Given the description of an element on the screen output the (x, y) to click on. 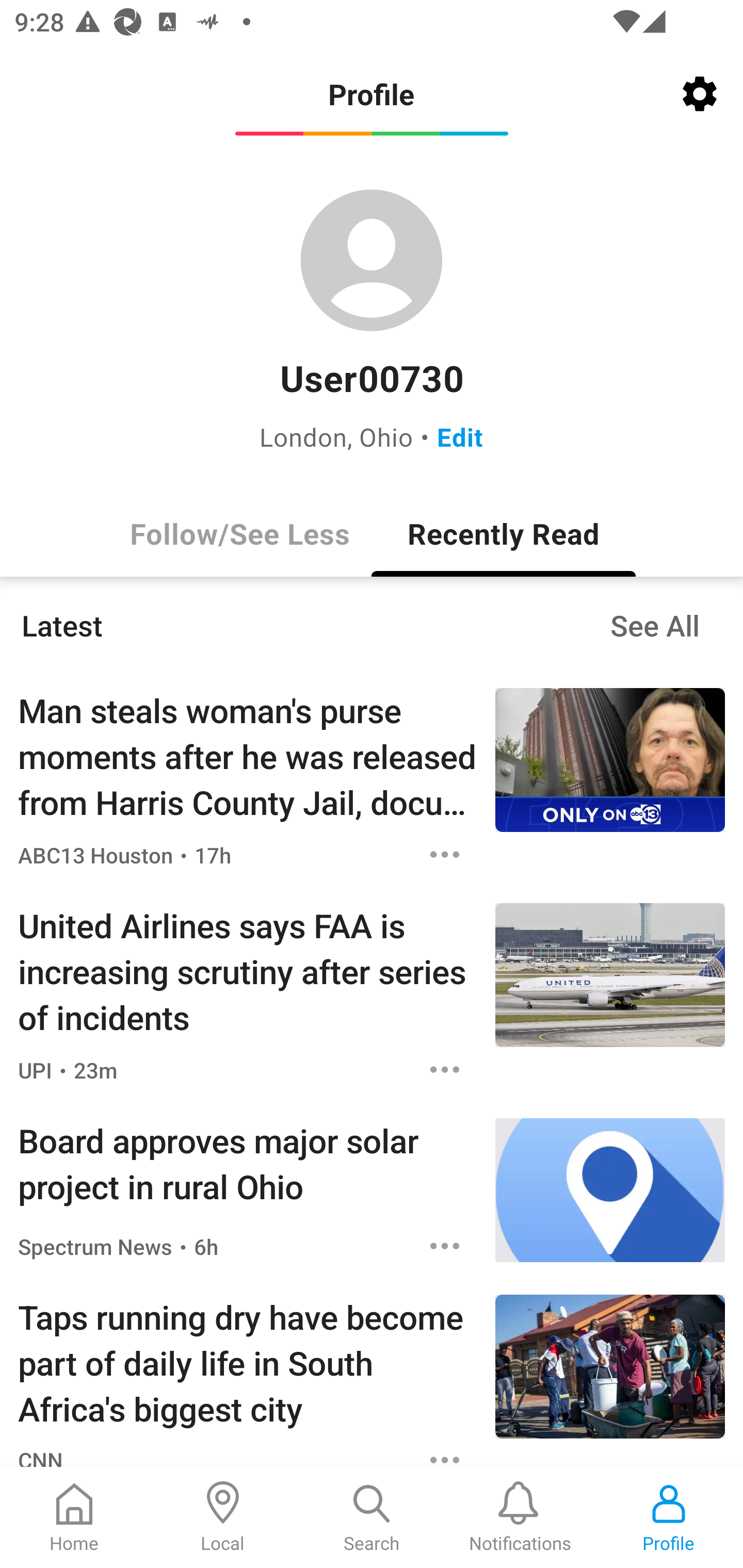
Settings (699, 93)
Edit (459, 436)
Follow/See Less (238, 533)
See All (654, 624)
Options (444, 854)
Options (444, 1069)
Options (444, 1246)
Options (444, 1452)
Home (74, 1517)
Local (222, 1517)
Search (371, 1517)
Notifications (519, 1517)
